Given the description of an element on the screen output the (x, y) to click on. 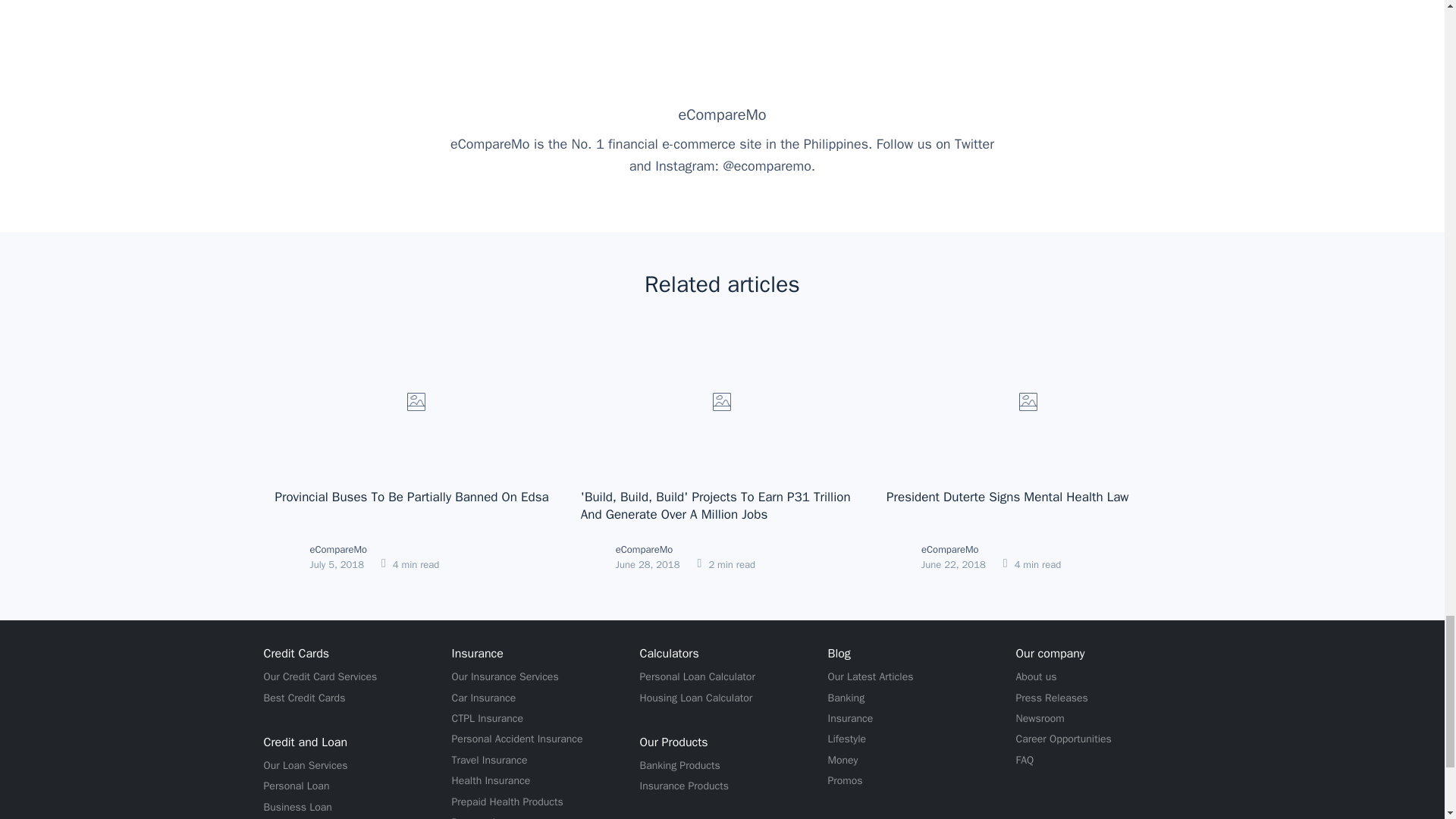
Prepaid Health Products (507, 801)
Business Loan (297, 807)
Personal Accident Insurance (517, 739)
Our Insurance Services (505, 677)
President Duterte Signs Mental Health Law (1007, 496)
CTPL Insurance (487, 718)
Our Credit Card Services (320, 677)
Car Insurance (483, 698)
Personal Loan (296, 786)
